Given the description of an element on the screen output the (x, y) to click on. 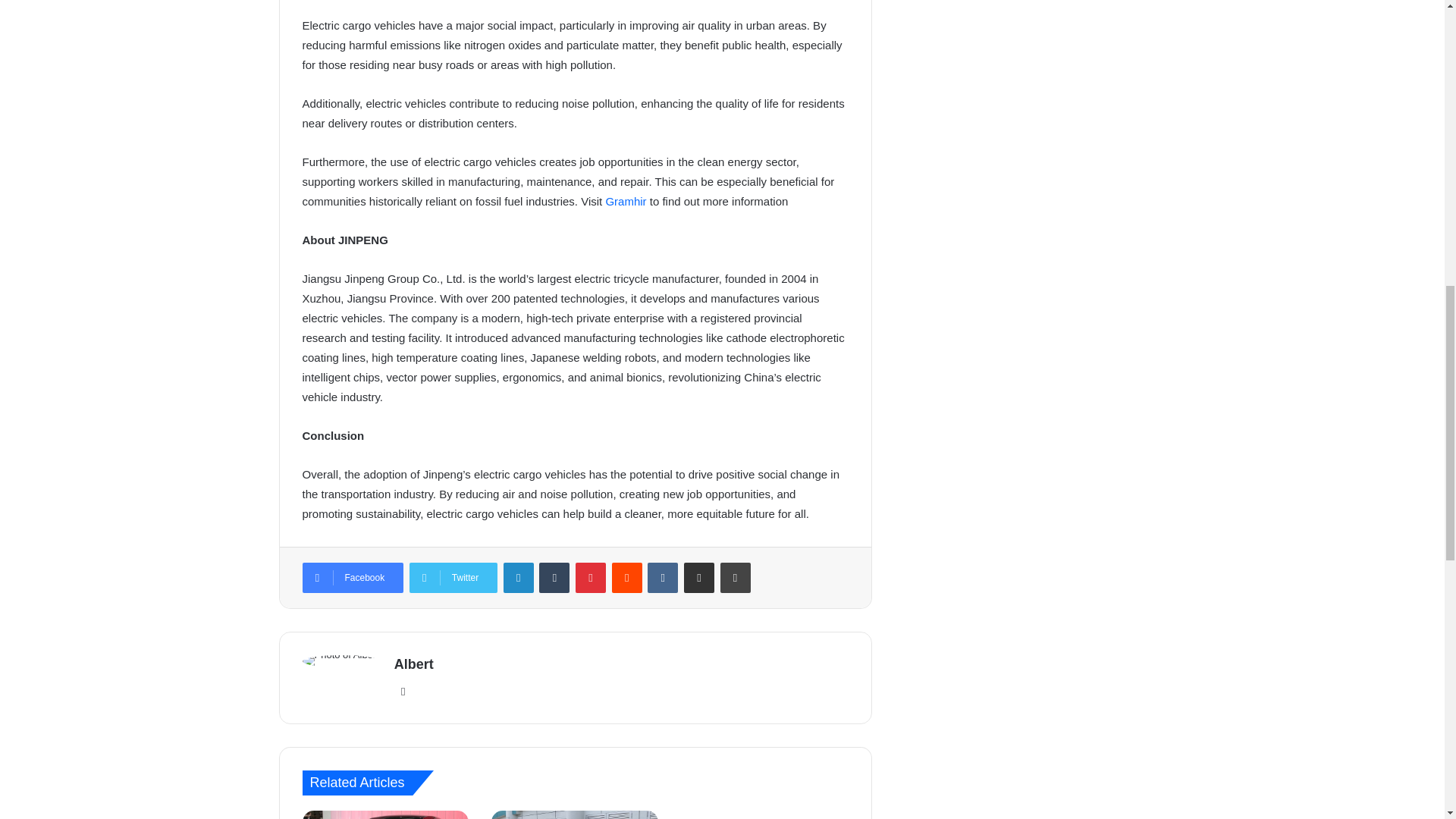
Pinterest (590, 577)
Pinterest (590, 577)
LinkedIn (518, 577)
Facebook (352, 577)
Tumblr (553, 577)
Facebook (352, 577)
Albert (413, 663)
Twitter (453, 577)
Print (735, 577)
Share via Email (699, 577)
